Given the description of an element on the screen output the (x, y) to click on. 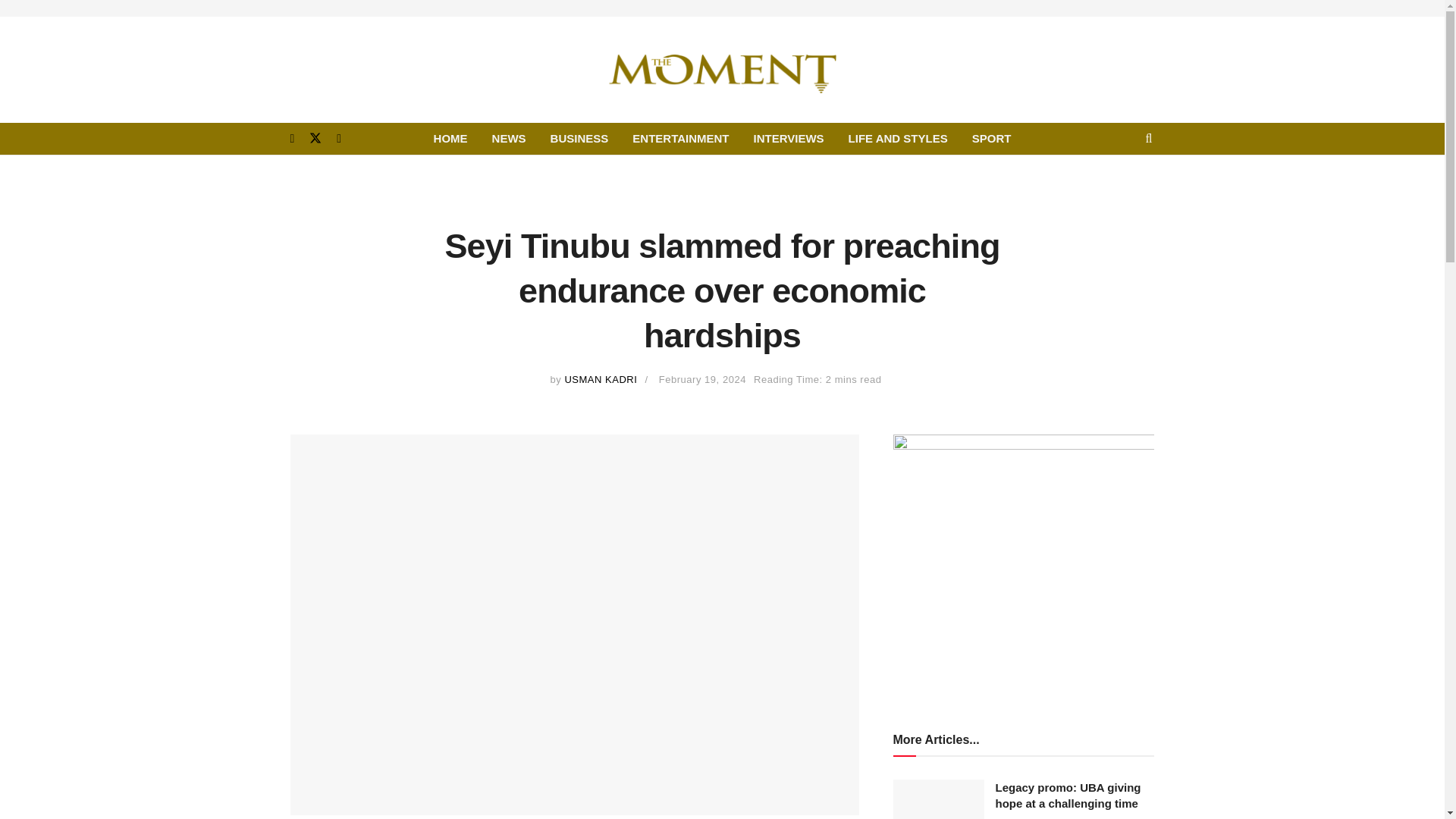
NEWS (509, 138)
BUSINESS (579, 138)
USMAN KADRI (600, 378)
HOME (451, 138)
ENTERTAINMENT (680, 138)
INTERVIEWS (788, 138)
SPORT (991, 138)
LIFE AND STYLES (897, 138)
